Given the description of an element on the screen output the (x, y) to click on. 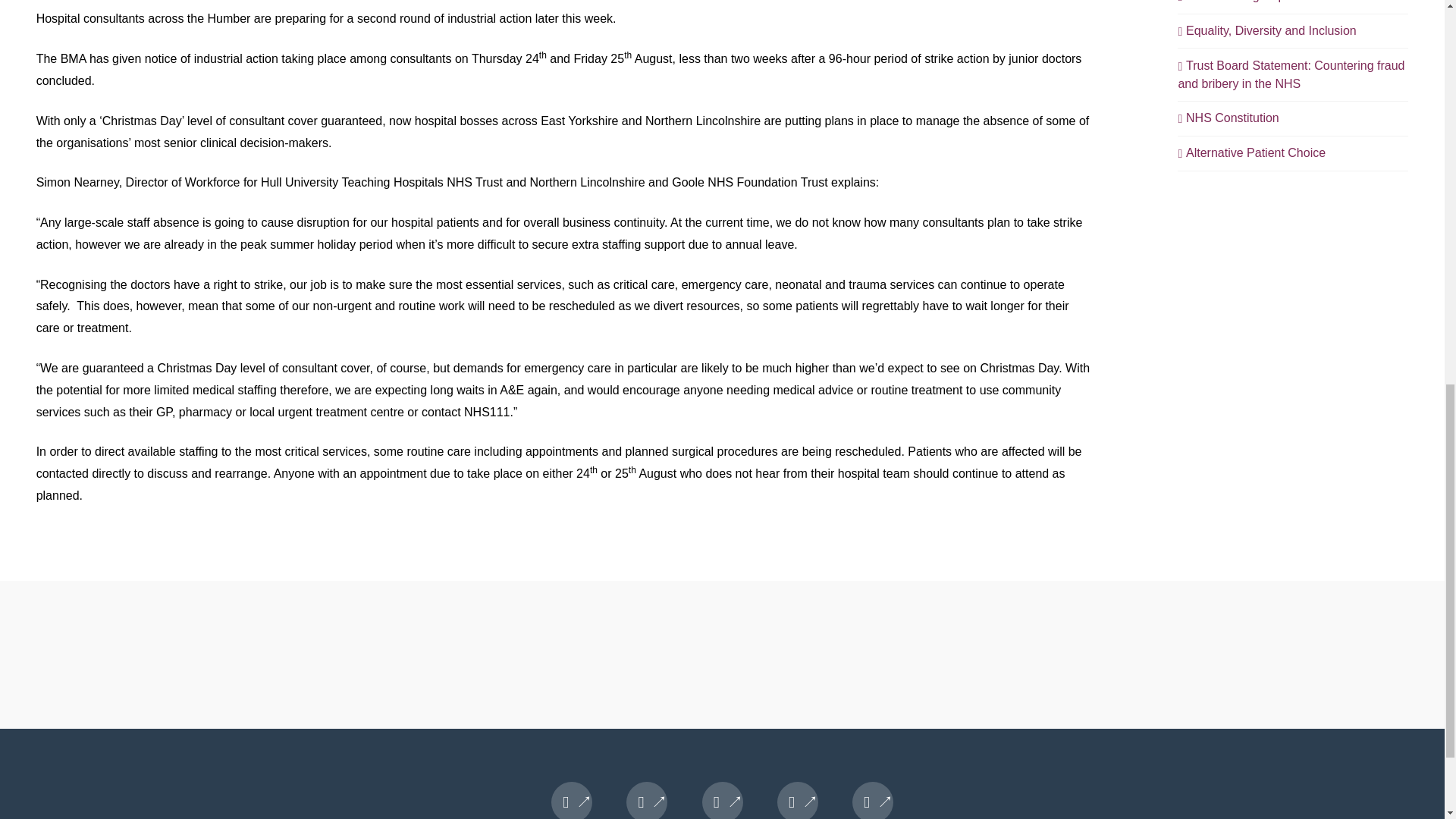
Safer Staffing Reports (1240, 2)
LinkedIn (721, 800)
Facebook (571, 800)
Instagram (872, 800)
YouTube (797, 800)
NHS Constitution (1227, 117)
Equality, Diversity and Inclusion (1266, 31)
